Given the description of an element on the screen output the (x, y) to click on. 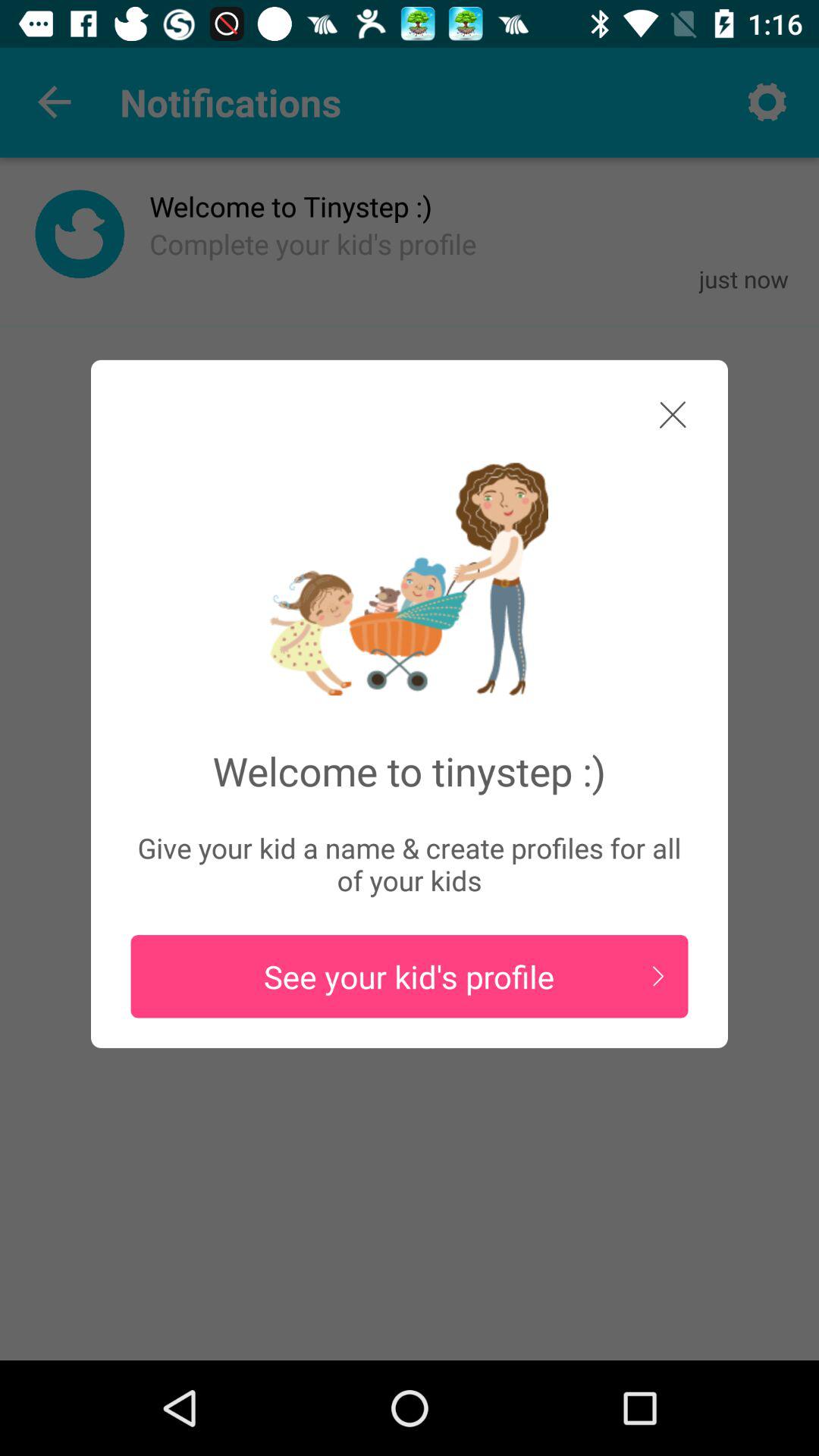
close window (657, 419)
